Given the description of an element on the screen output the (x, y) to click on. 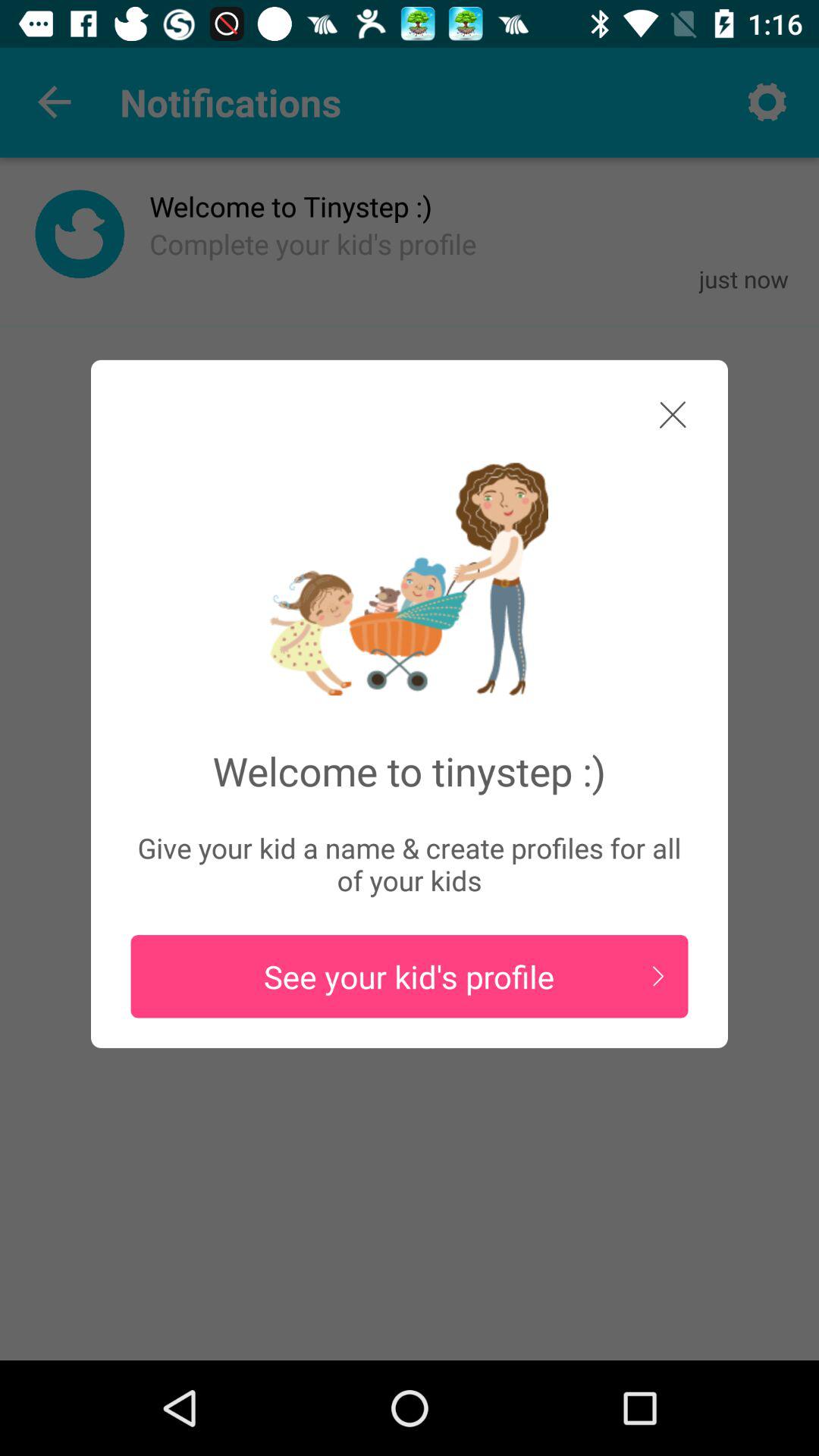
close window (657, 419)
